Given the description of an element on the screen output the (x, y) to click on. 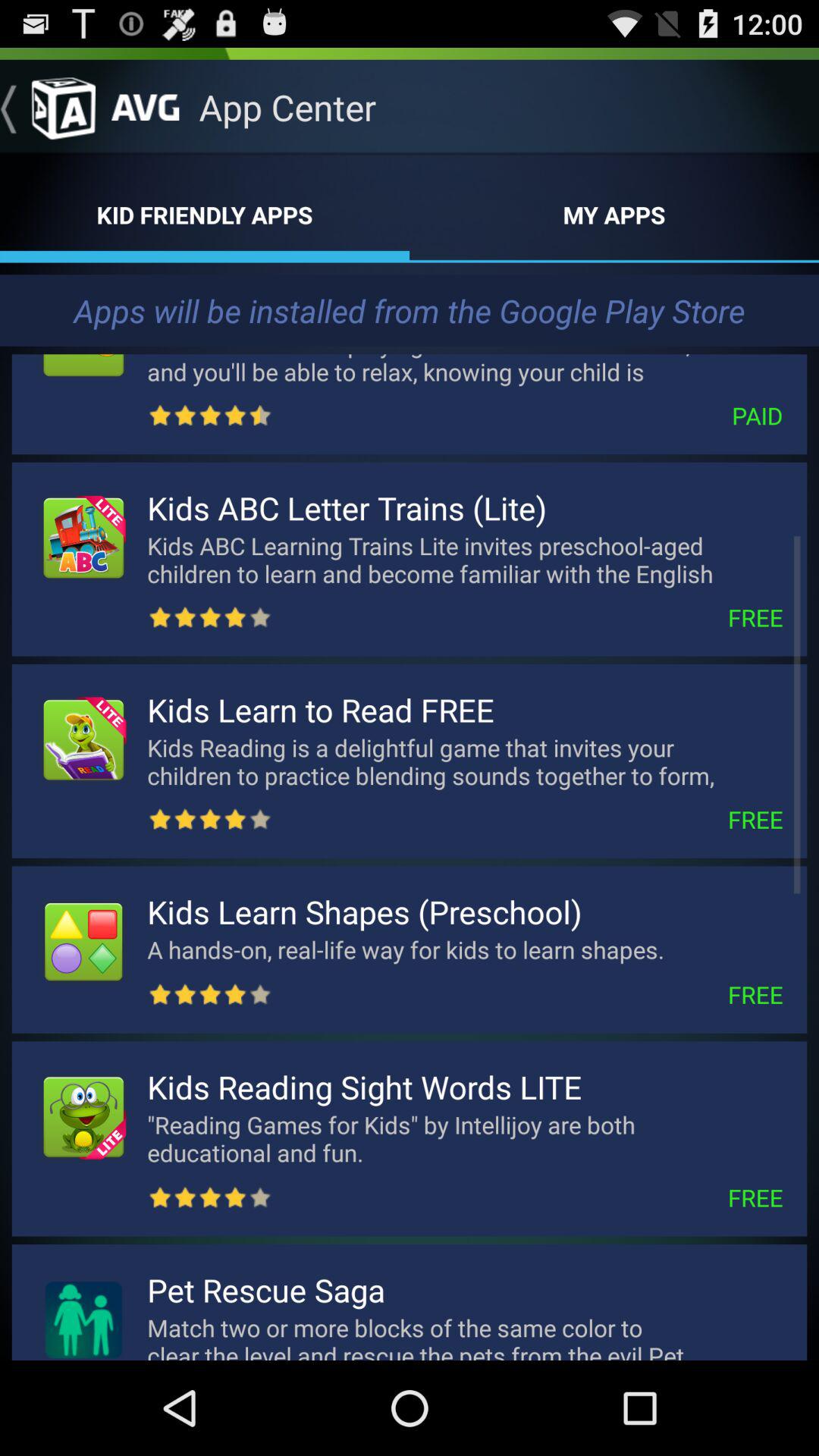
choose the item below apps will be icon (465, 366)
